Given the description of an element on the screen output the (x, y) to click on. 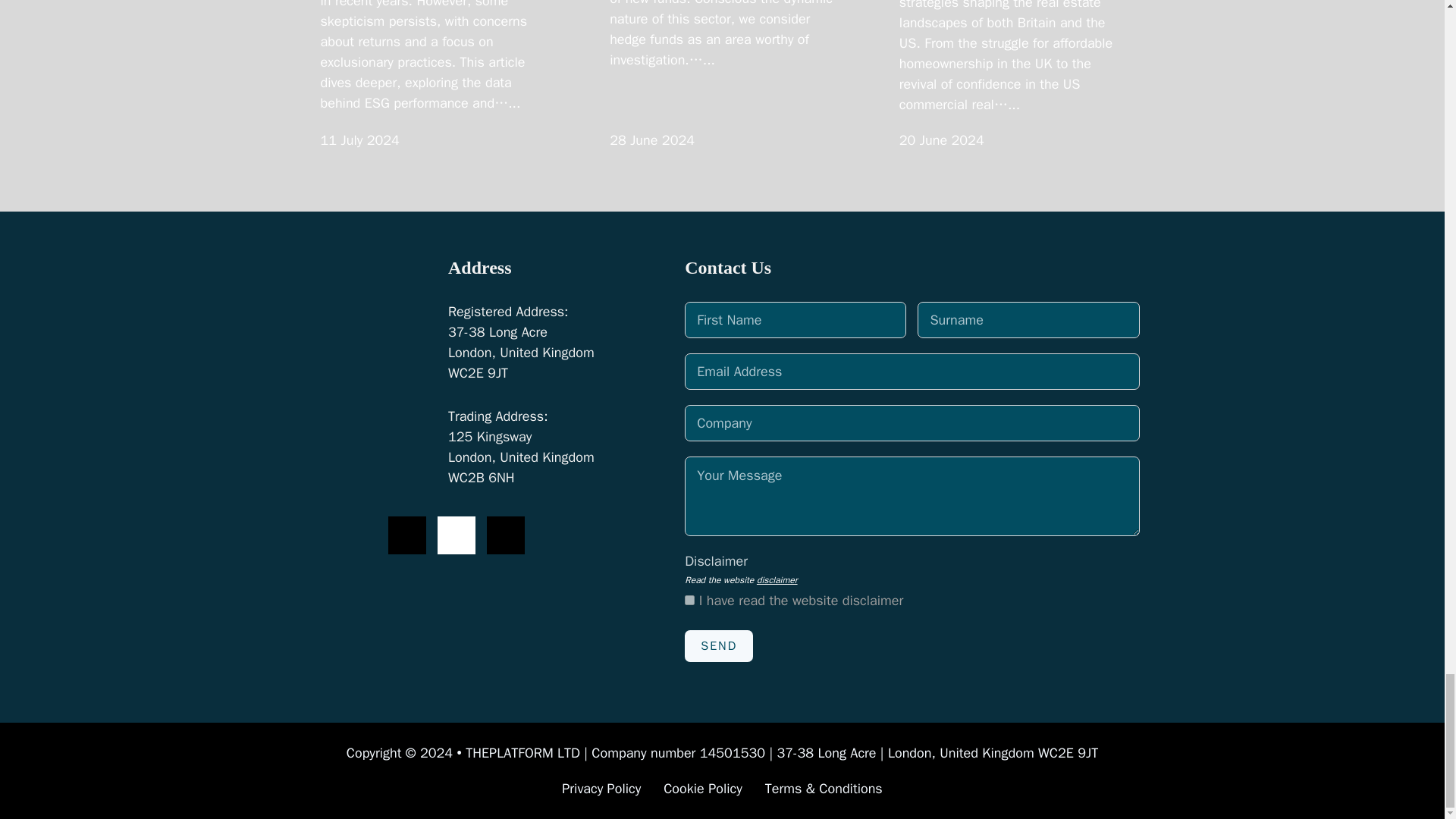
I have read the website disclaimer (689, 600)
